Given the description of an element on the screen output the (x, y) to click on. 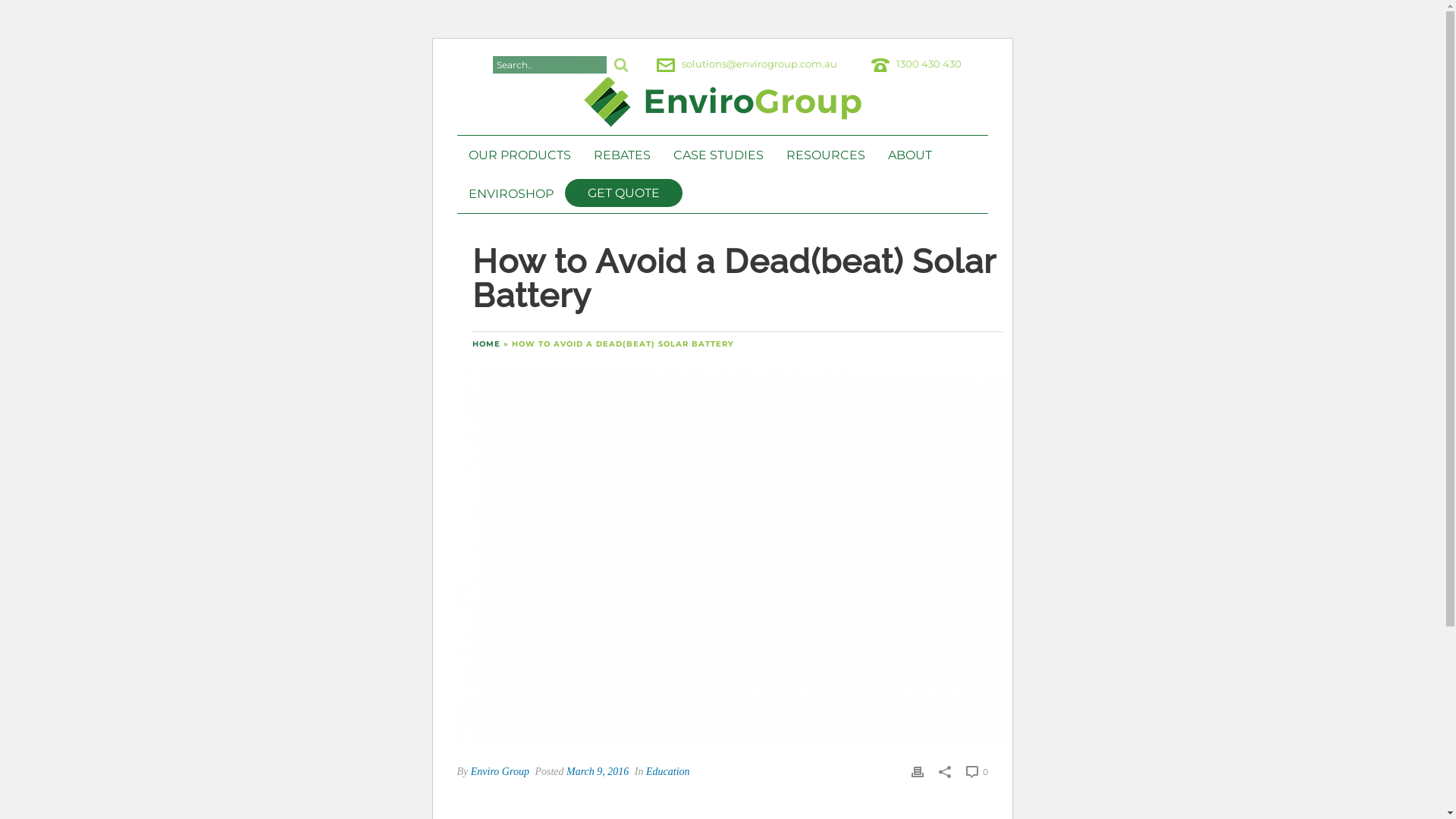
Enviro Group Element type: text (499, 771)
How to Avoid a Dead(beat) Solar Battery Element type: hover (756, 554)
ENVIROSHOP Element type: text (510, 193)
0 Element type: text (977, 771)
ABOUT Element type: text (909, 154)
solutions@envirogroup.com.au Element type: text (758, 63)
  Element type: text (721, 556)
March 9, 2016 Element type: text (597, 771)
How to Avoid a Dead(beat) Solar Battery Element type: hover (721, 556)
HOME Element type: text (485, 343)
Education Element type: text (668, 771)
EnviroGroup Element type: hover (722, 109)
CASE STUDIES Element type: text (717, 154)
RESOURCES Element type: text (825, 154)
GET QUOTE Element type: text (622, 192)
OUR PRODUCTS Element type: text (518, 154)
Your Renewable Energy Experts Element type: hover (722, 101)
1300 430 430 Element type: text (928, 63)
REBATES Element type: text (622, 154)
Print Element type: hover (917, 770)
